Given the description of an element on the screen output the (x, y) to click on. 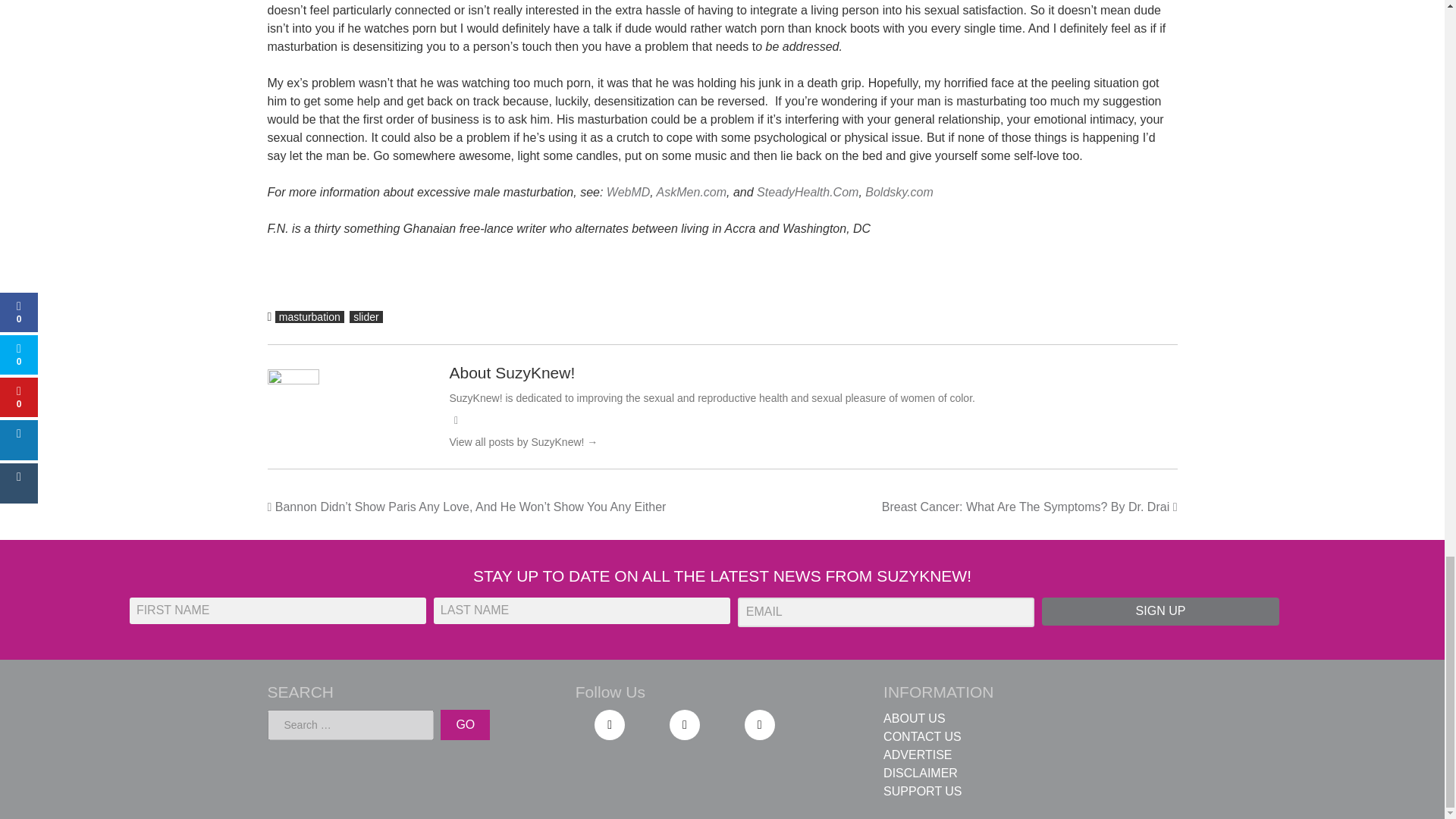
AskMen.com (691, 191)
ABOUT US (913, 717)
SteadyHealth.Com (808, 191)
GO (465, 725)
Website (455, 419)
slider (365, 316)
GO (465, 725)
WebMD (628, 191)
Breast Cancer: What Are The Symptoms? By Dr. Drai (1029, 506)
GO (465, 725)
masturbation (309, 316)
SIGN UP (1160, 611)
Boldsky.com (898, 191)
